Given the description of an element on the screen output the (x, y) to click on. 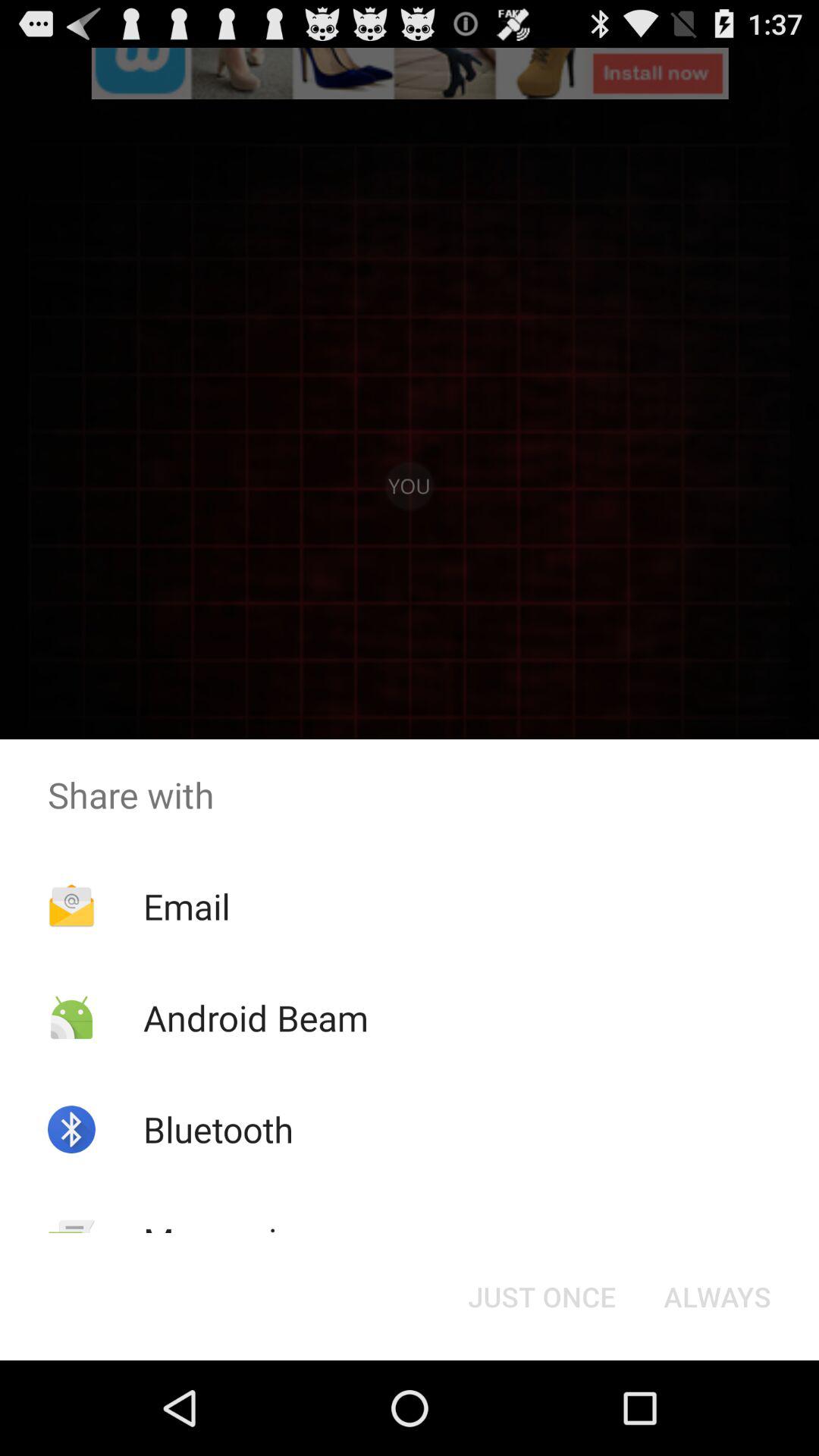
turn on the icon below share with icon (717, 1296)
